Given the description of an element on the screen output the (x, y) to click on. 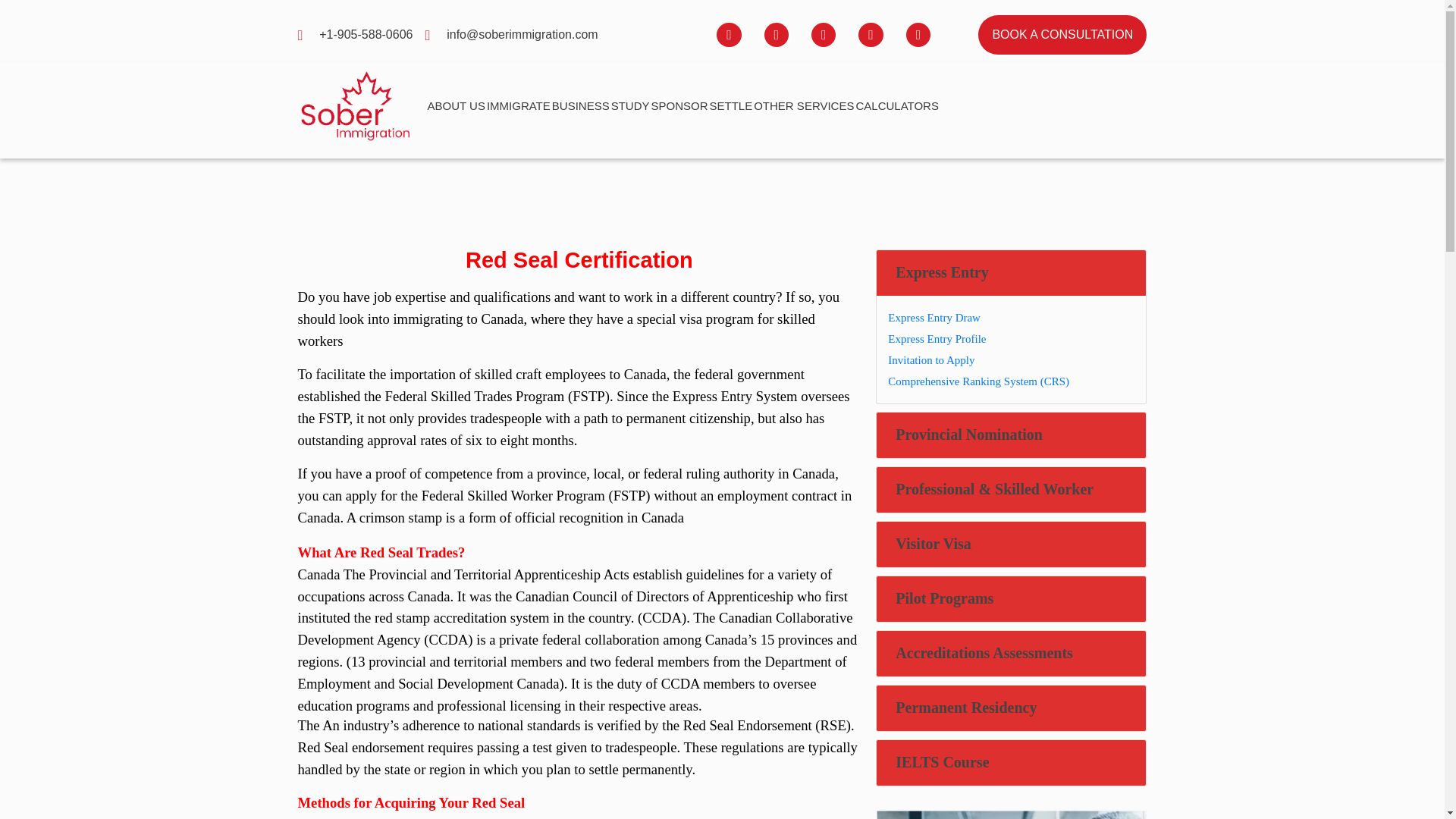
ABOUT US (456, 105)
BOOK A CONSULTATION (1062, 34)
BUSINESS (580, 105)
IMMIGRATE (518, 105)
AAASDAe (1010, 814)
